Given the description of an element on the screen output the (x, y) to click on. 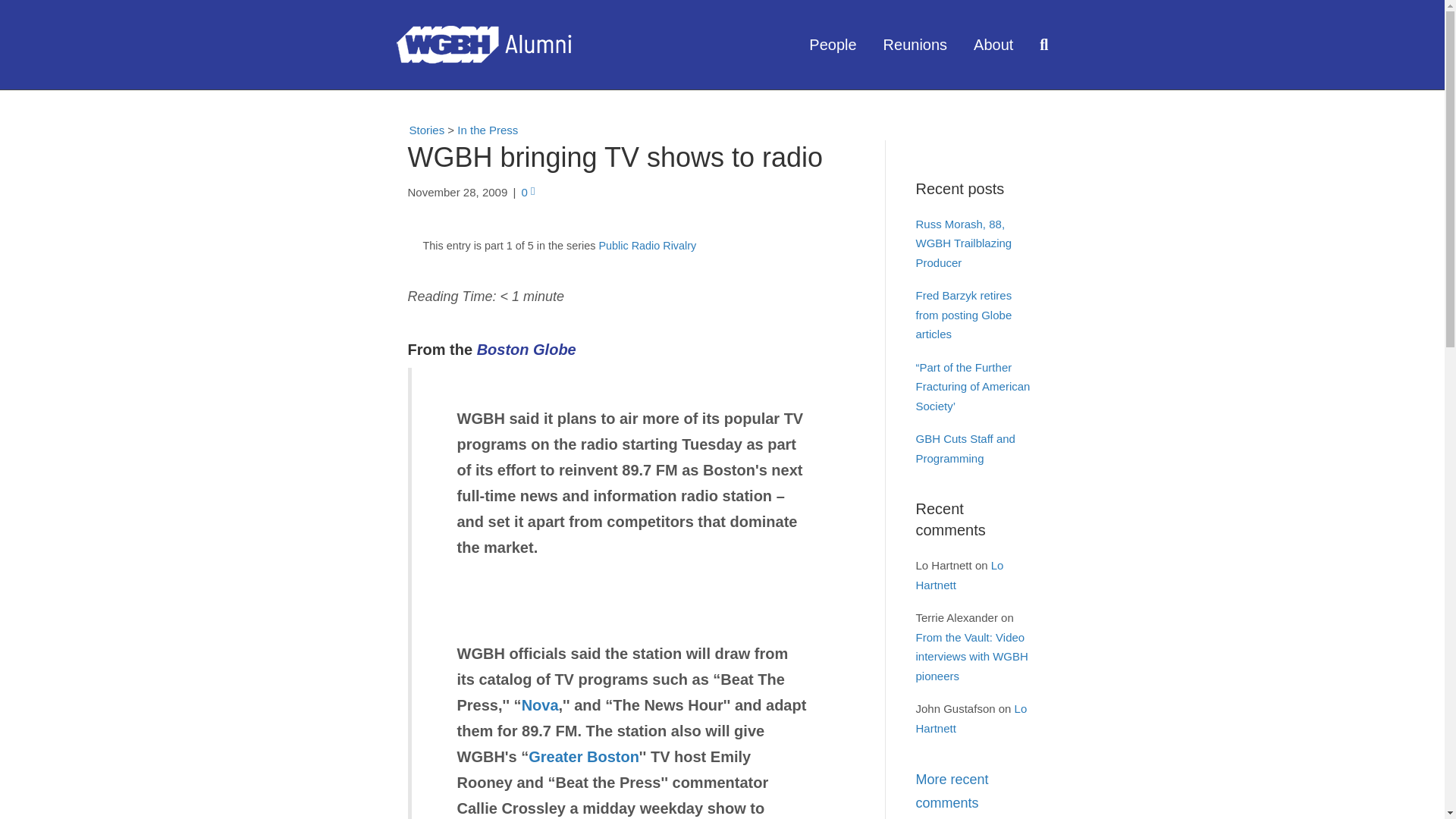
Posts tagged with NOVA (540, 704)
In the Press (487, 129)
About (994, 44)
Go to the In the Press category archives. (487, 129)
Posts tagged with Greater Boston (583, 756)
Reunions (917, 44)
Greater Boston (583, 756)
Nova (540, 704)
Public Radio Rivalry (646, 245)
Stories (420, 129)
